Given the description of an element on the screen output the (x, y) to click on. 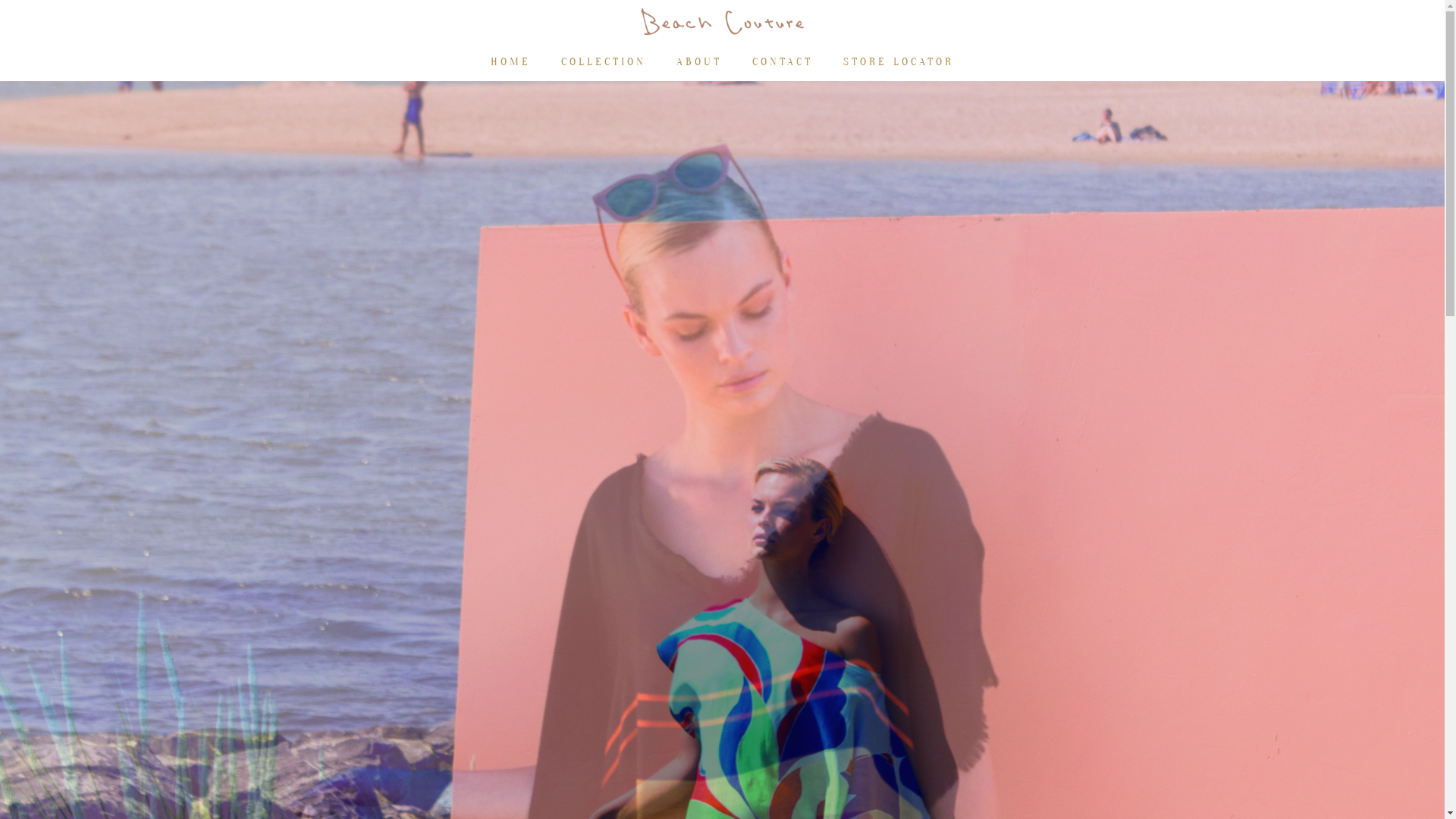
CONTACT Element type: text (782, 62)
ABOUT Element type: text (699, 62)
STORE LOCATOR Element type: text (898, 62)
COLLECTION Element type: text (603, 62)
HOME Element type: text (510, 62)
